Given the description of an element on the screen output the (x, y) to click on. 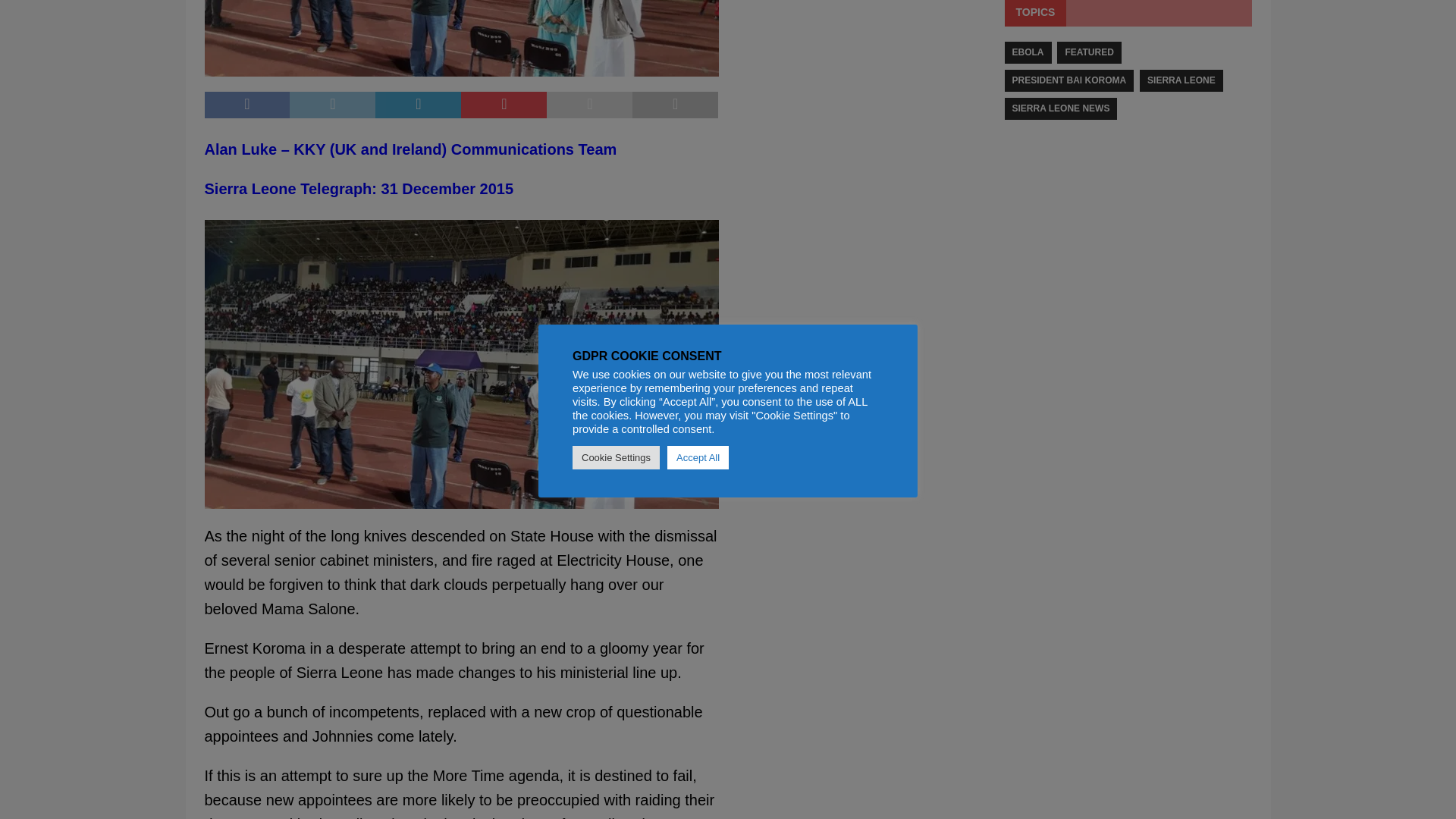
Kandeh Yumkella salone tour 20151 (462, 38)
